Given the description of an element on the screen output the (x, y) to click on. 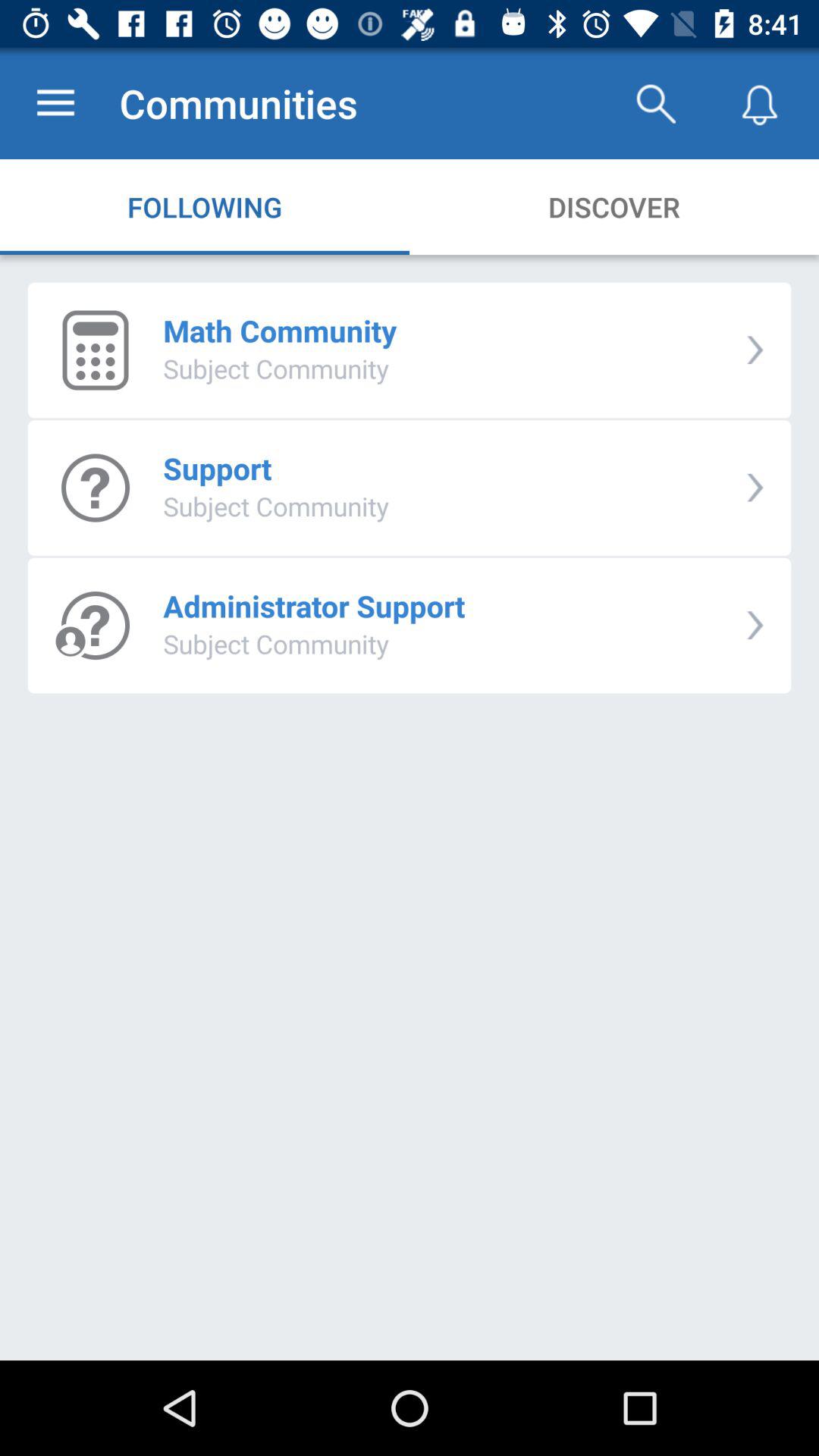
press item next to math community item (755, 350)
